Given the description of an element on the screen output the (x, y) to click on. 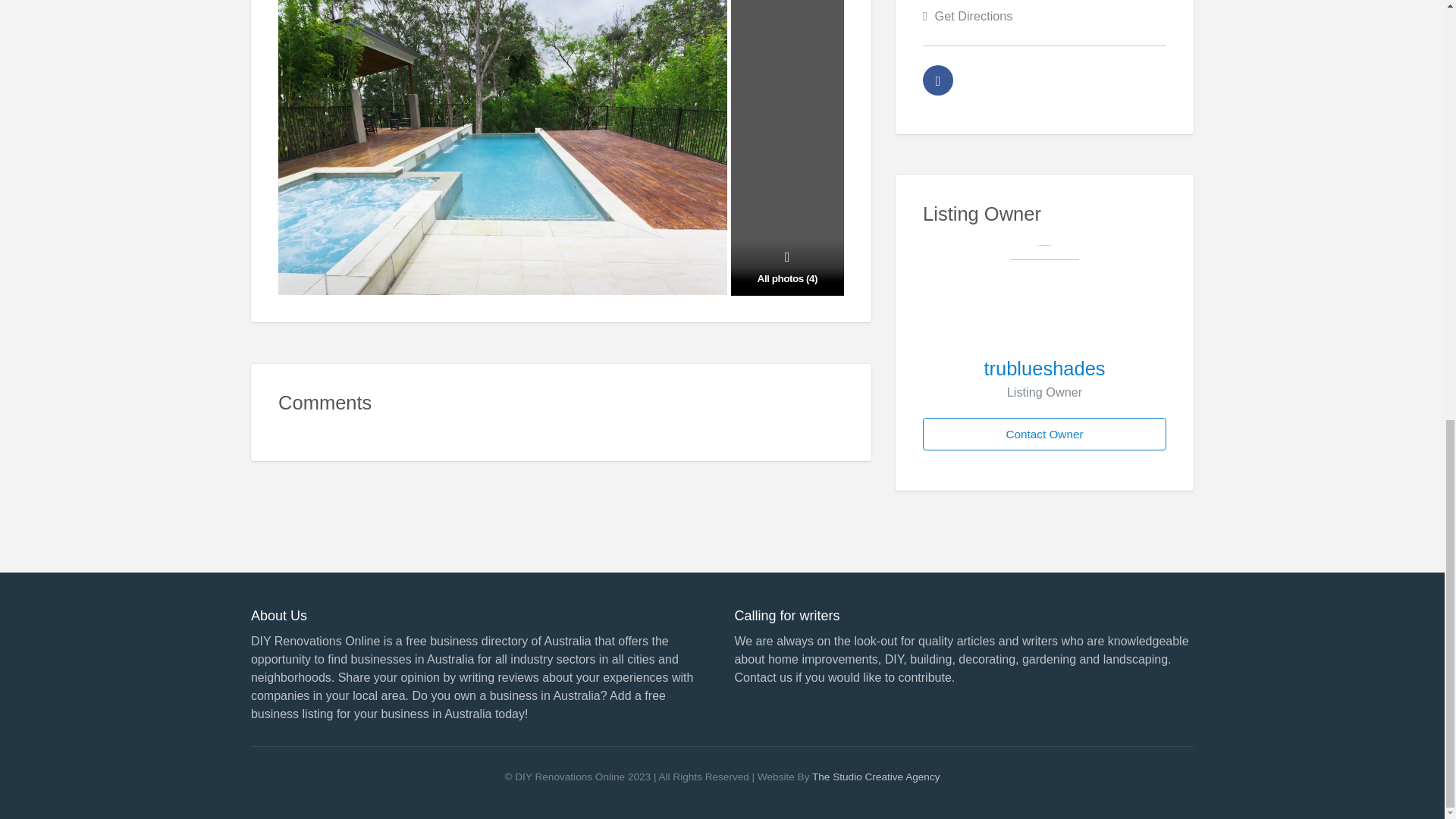
Facebook (938, 80)
